Given the description of an element on the screen output the (x, y) to click on. 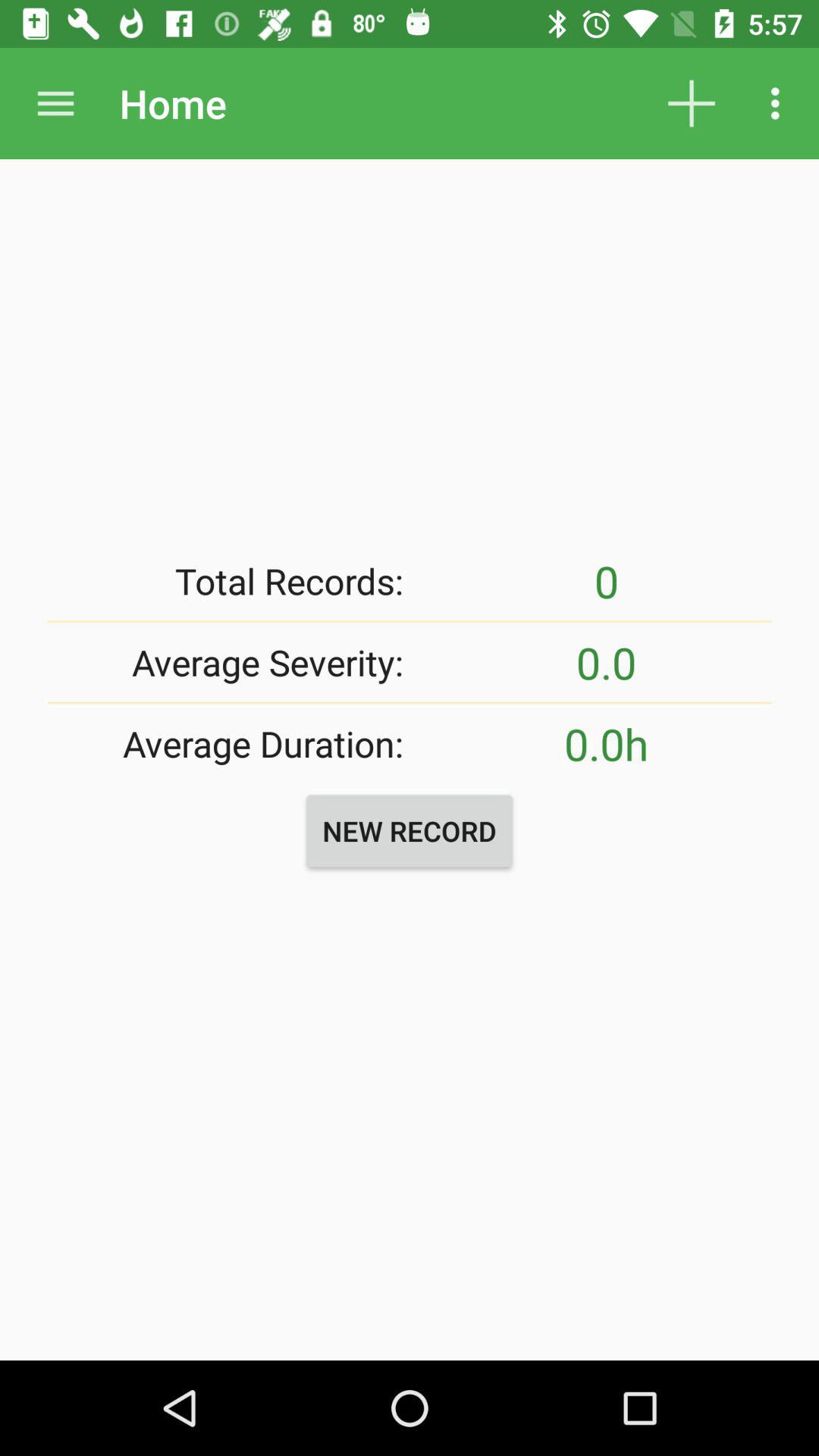
menu (55, 103)
